Given the description of an element on the screen output the (x, y) to click on. 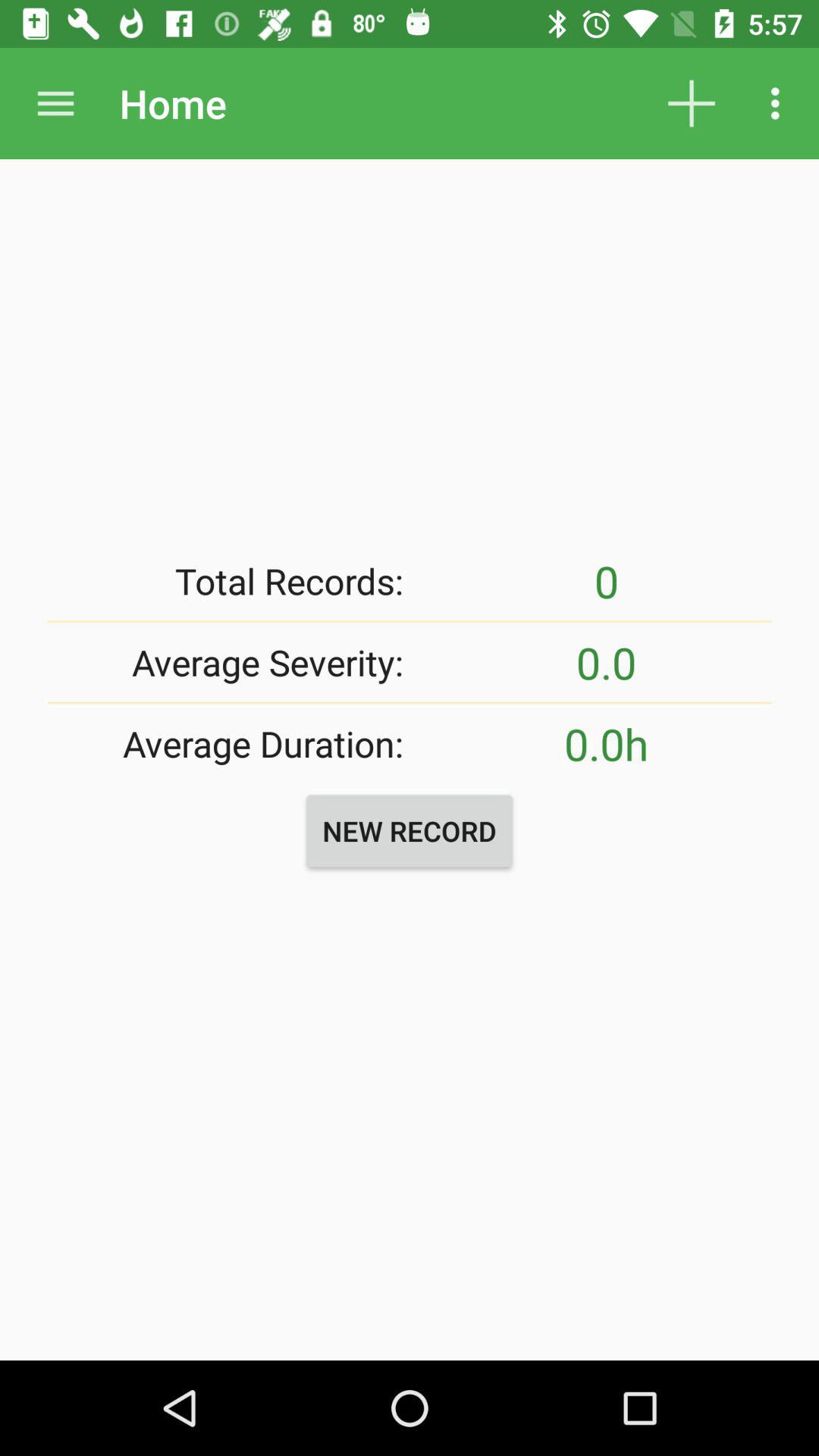
menu (55, 103)
